Given the description of an element on the screen output the (x, y) to click on. 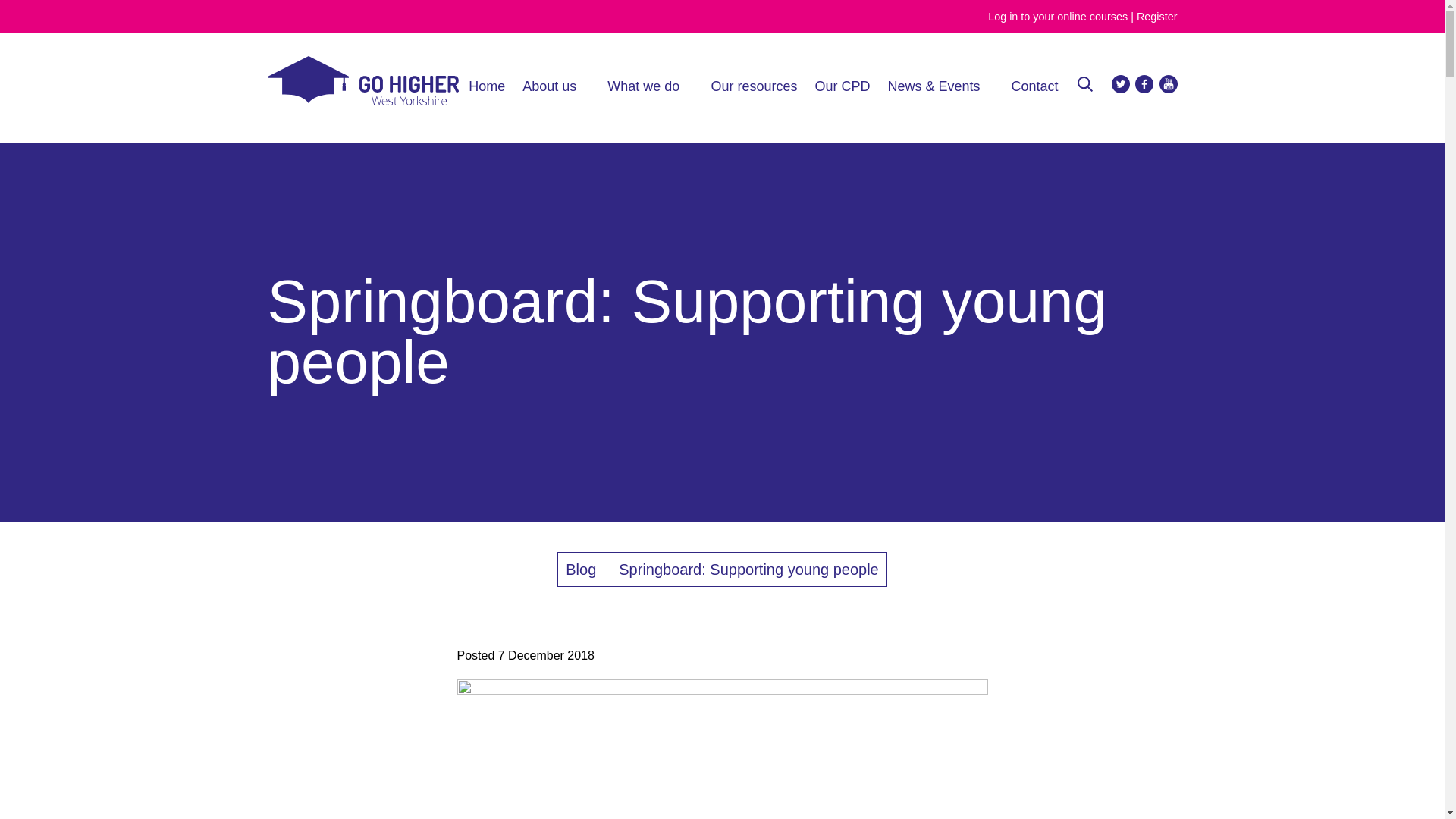
Blog (580, 569)
Go to News. (580, 569)
Our CPD (841, 86)
Contact (1034, 86)
Go Higher West Yorkshire (362, 101)
Our resources (753, 86)
